Given the description of an element on the screen output the (x, y) to click on. 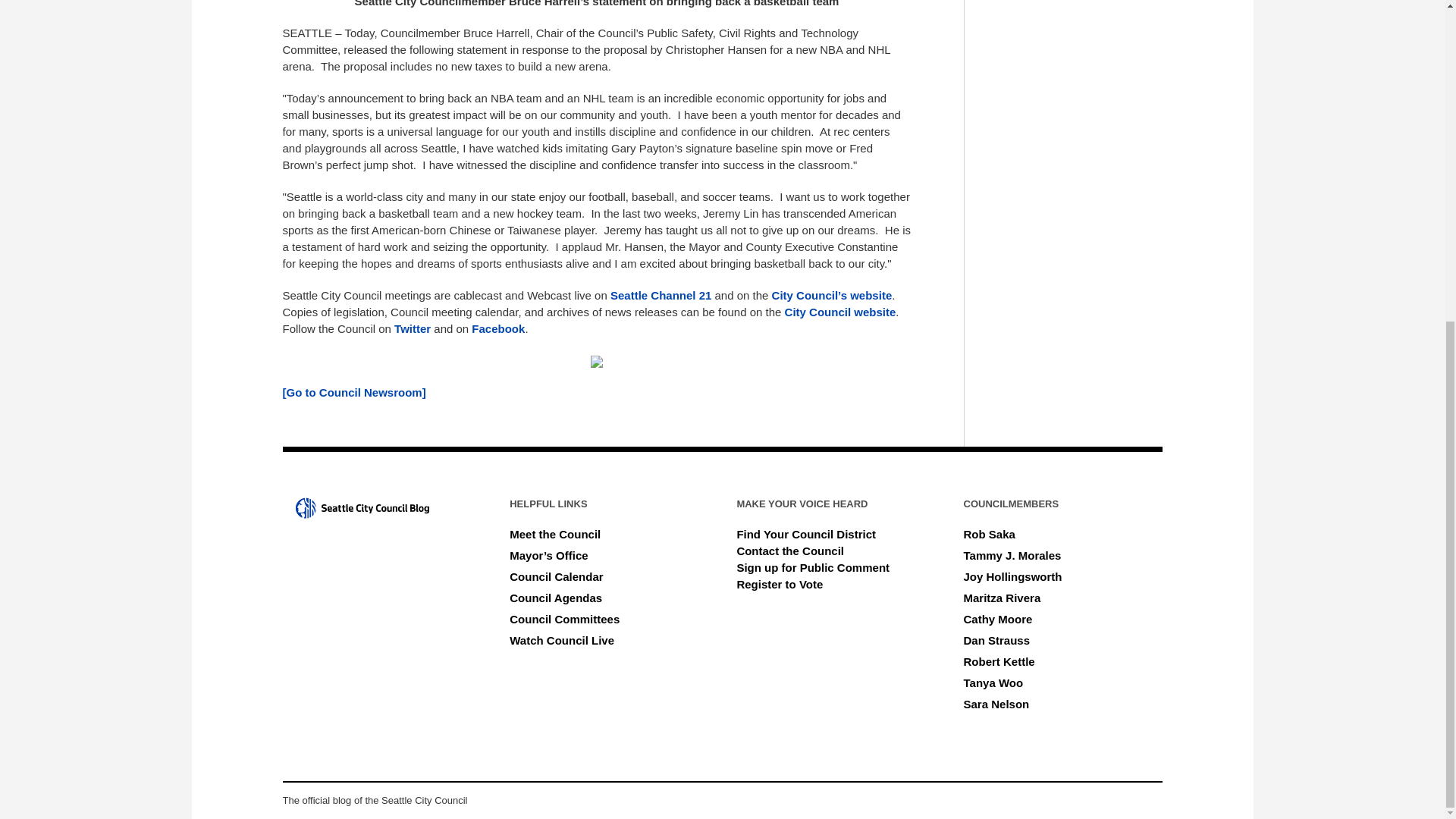
Council Calendar (555, 576)
Facebook (497, 328)
Sign up for Public Comment (812, 567)
Twitter (412, 328)
Contact the Council (790, 550)
Seattle Channel 21 (660, 295)
City Council website (840, 311)
Find Your Council District (806, 533)
Register to Vote (779, 584)
Meet the Council (554, 533)
